Given the description of an element on the screen output the (x, y) to click on. 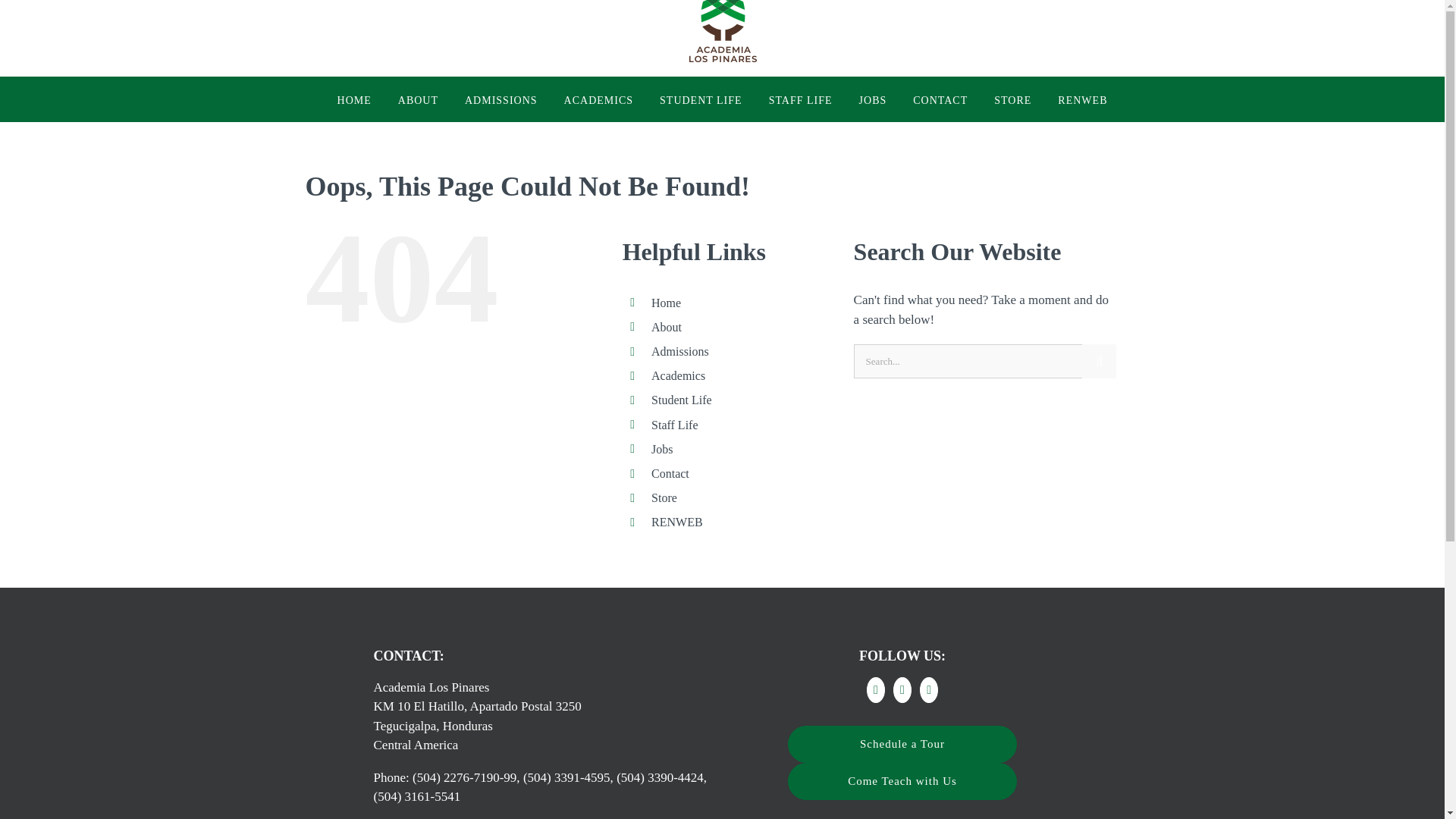
ACADEMICS (598, 99)
ABOUT (417, 99)
STUDENT LIFE (700, 99)
Facebook (875, 689)
LinkedIn (902, 689)
STAFF LIFE (800, 99)
ADMISSIONS (500, 99)
HOME (354, 99)
Mail (928, 689)
